Given the description of an element on the screen output the (x, y) to click on. 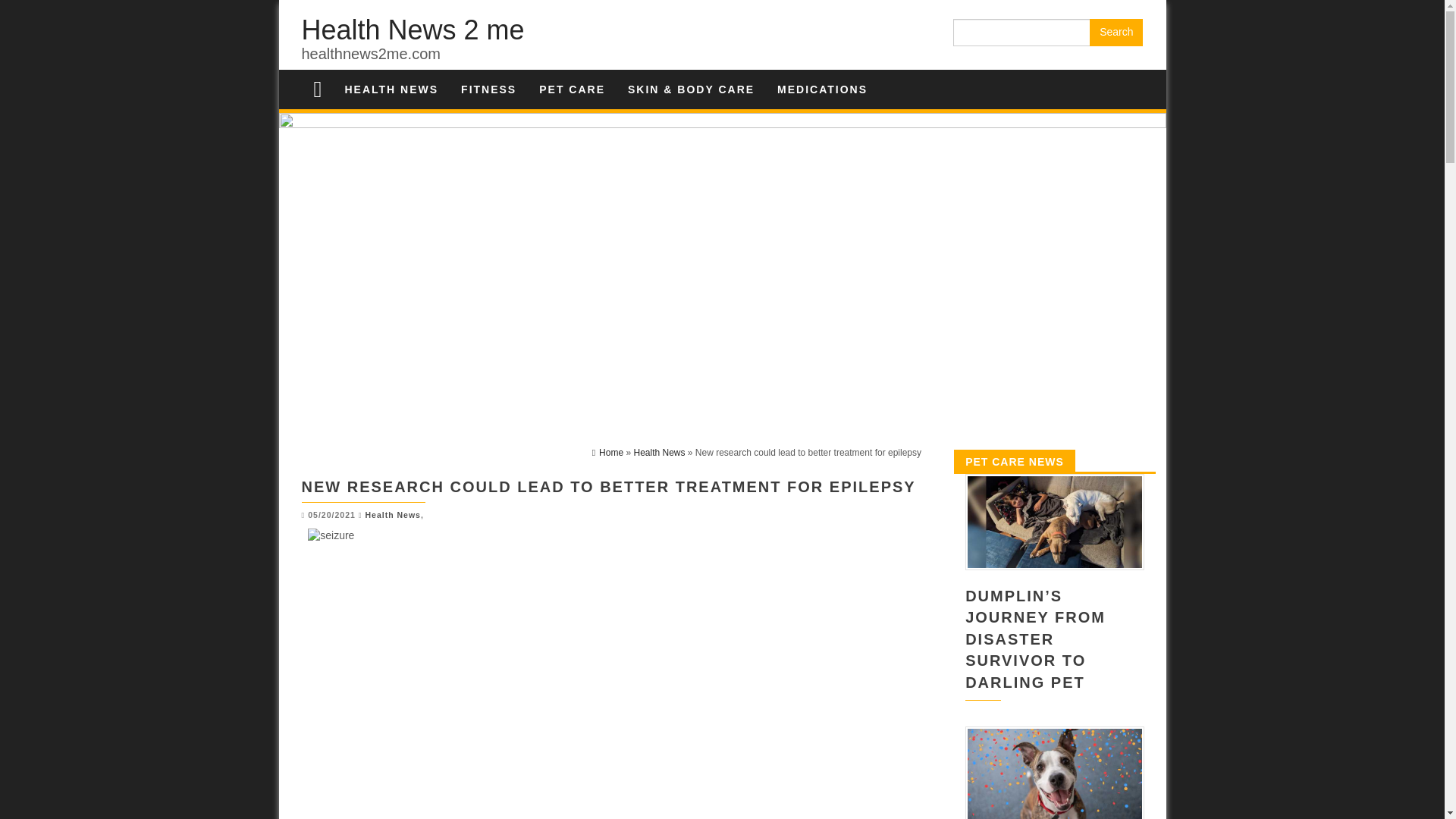
Search (1115, 31)
Health News (658, 452)
PET CARE (571, 89)
Health News (392, 514)
Home (607, 452)
Fitness (488, 89)
FITNESS (488, 89)
Health News (391, 89)
Health News 2 me (412, 29)
View all posts in Health News (392, 514)
